Given the description of an element on the screen output the (x, y) to click on. 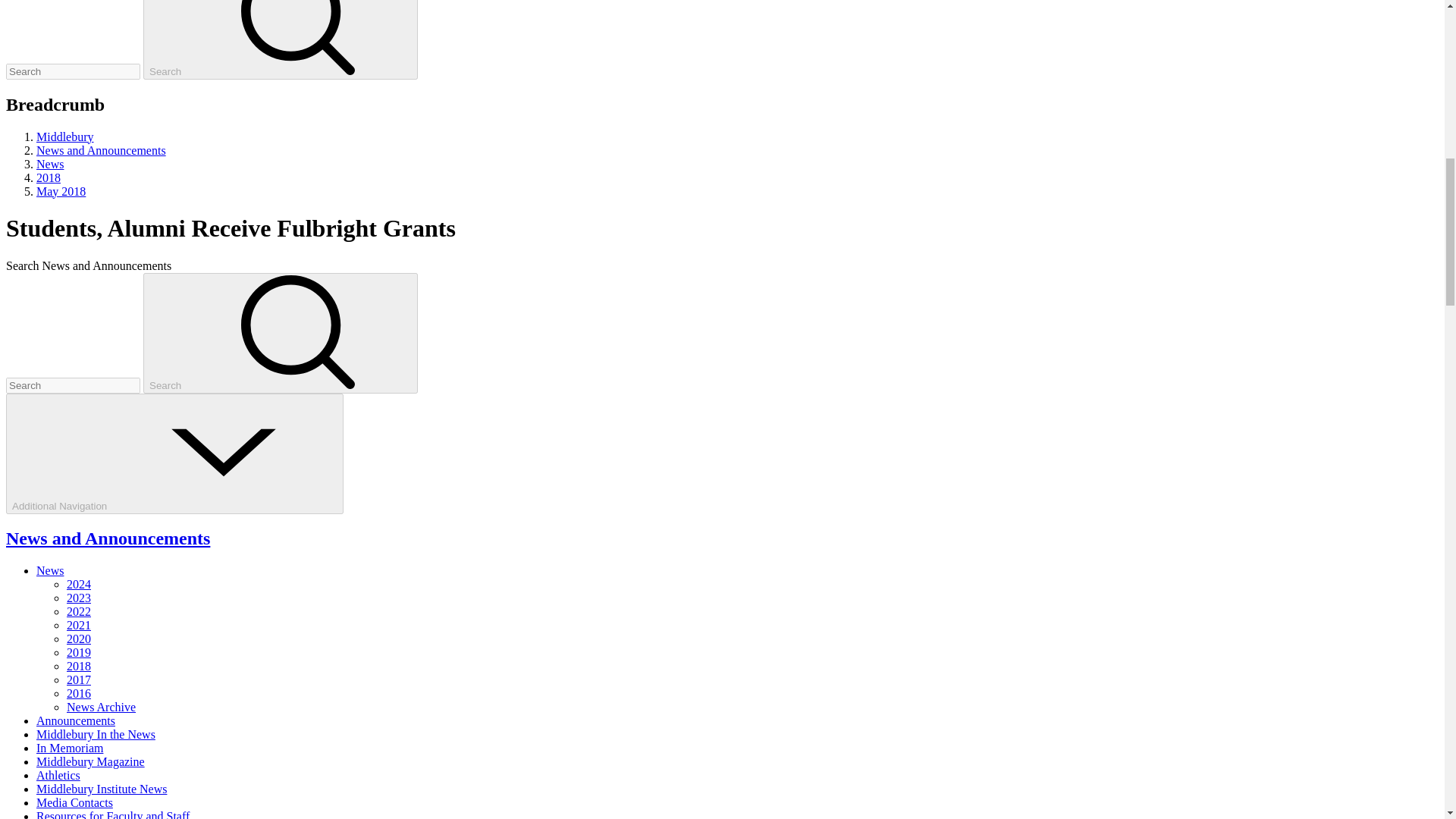
2020 (78, 638)
News (50, 164)
Middlebury (65, 136)
2022 (78, 611)
2021 (78, 625)
2019 (78, 652)
2023 (78, 597)
2024 (78, 584)
Additional Navigation (174, 453)
2018 (48, 177)
News and Announcements (100, 150)
Search (279, 39)
May 2018 (60, 191)
News (50, 570)
2017 (78, 679)
